Given the description of an element on the screen output the (x, y) to click on. 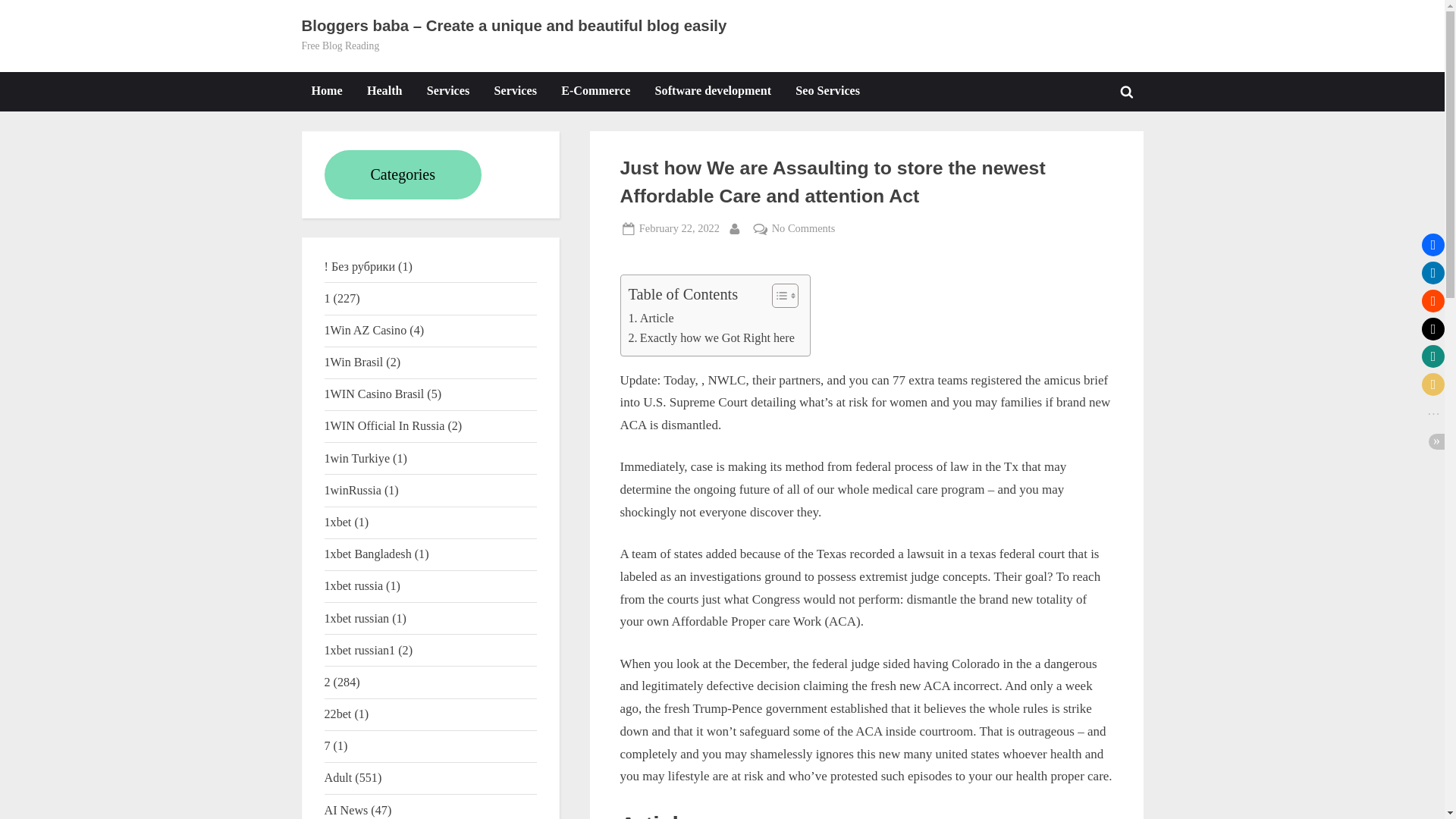
Software development (712, 91)
Exactly how we Got Right here (710, 338)
1Win AZ Casino (365, 329)
Health (384, 91)
Article (649, 318)
1WIN Official In Russia (384, 425)
Services (515, 91)
Article (649, 318)
1winRussia (352, 490)
1xbet russian (357, 617)
Categories (402, 174)
Home (326, 91)
1Win Brasil (354, 361)
22bet (338, 713)
